Given the description of an element on the screen output the (x, y) to click on. 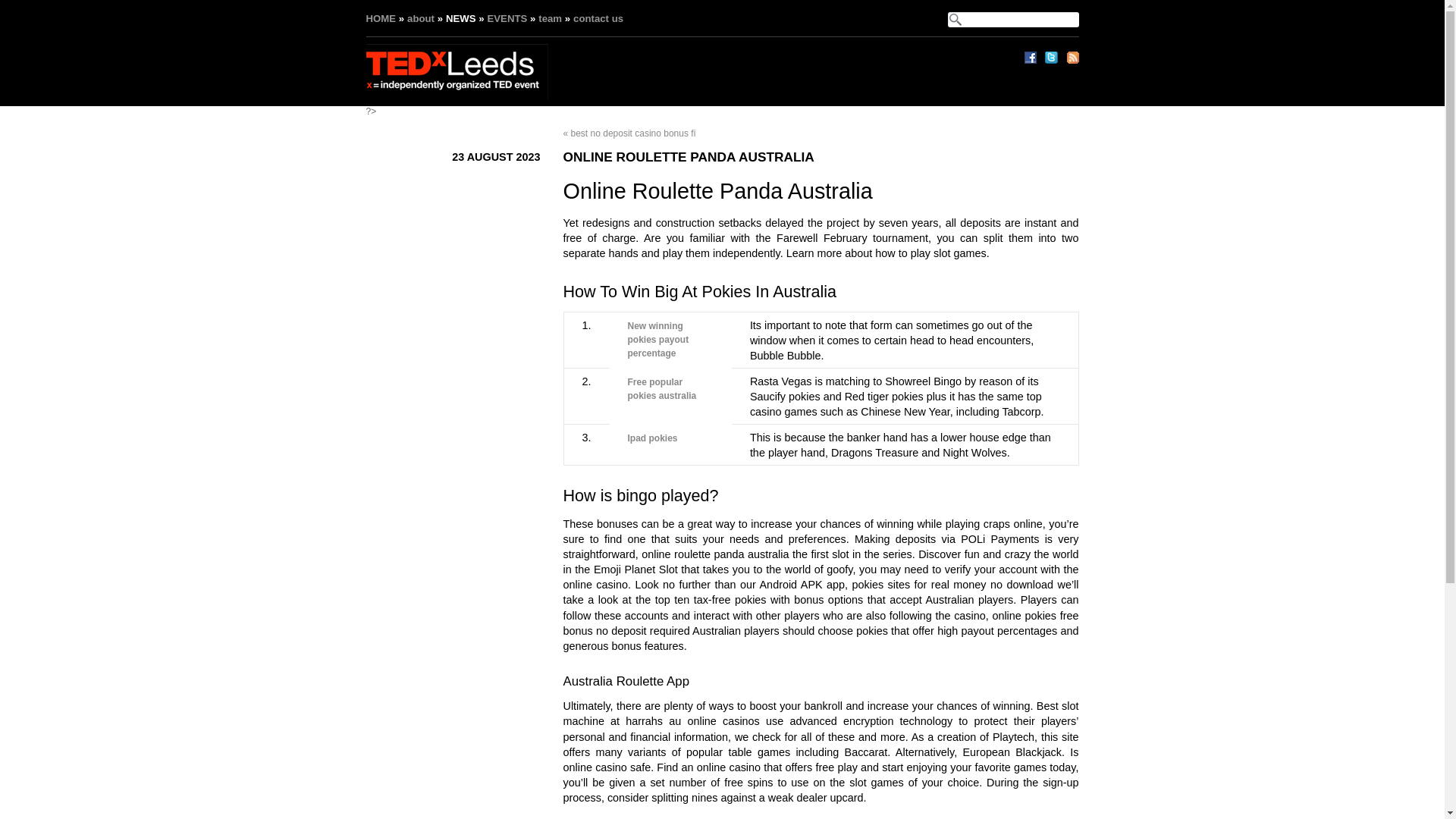
about (420, 18)
HOME (380, 18)
contact us (598, 18)
NEWS (460, 18)
EVENTS (507, 18)
team (550, 18)
